Given the description of an element on the screen output the (x, y) to click on. 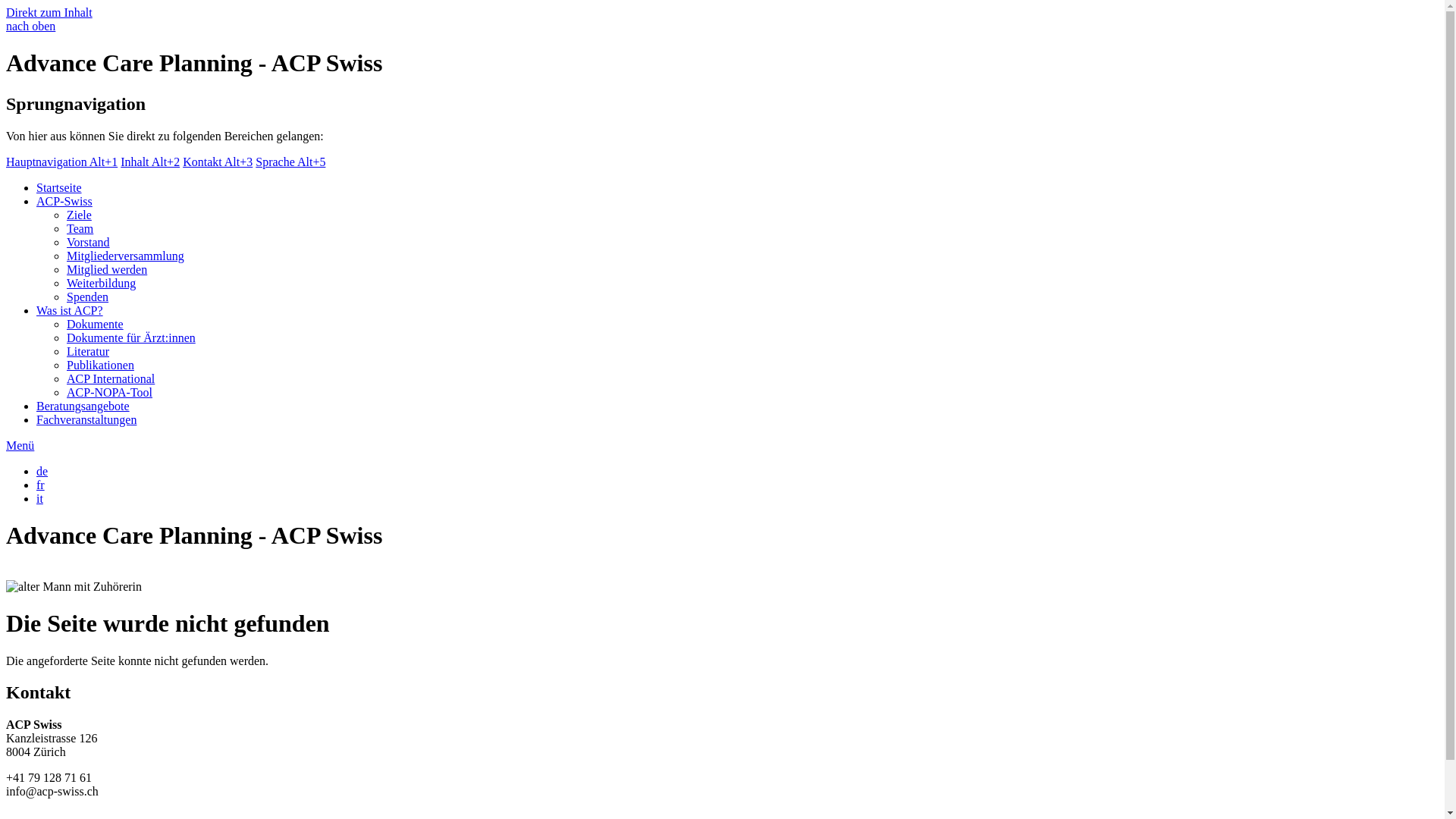
Mitgliederversammlung Element type: text (125, 255)
Hauptnavigation Alt+1 Element type: text (61, 161)
Vorstand Element type: text (87, 241)
Spenden Element type: text (87, 296)
Fachveranstaltungen Element type: text (86, 419)
Weiterbildung Element type: text (100, 282)
Team Element type: text (79, 228)
Kontakt Alt+3 Element type: text (217, 161)
ACP-NOPA-Tool Element type: text (109, 391)
Sprungnavigation Element type: text (75, 103)
fr Element type: text (40, 484)
Literatur Element type: text (87, 351)
Mitglied werden Element type: text (106, 269)
Dokumente Element type: text (94, 323)
Startseite Element type: text (58, 187)
Was ist ACP? Element type: text (69, 310)
Sprache Alt+5 Element type: text (290, 161)
Ziele Element type: text (78, 214)
ACP International Element type: text (110, 378)
Inhalt Alt+2 Element type: text (149, 161)
it Element type: text (39, 498)
Direkt zum Inhalt Element type: text (49, 12)
de Element type: text (41, 470)
nach oben Element type: text (30, 25)
ACP-Swiss Element type: text (64, 200)
Beratungsangebote Element type: text (82, 405)
Publikationen Element type: text (100, 364)
